Given the description of an element on the screen output the (x, y) to click on. 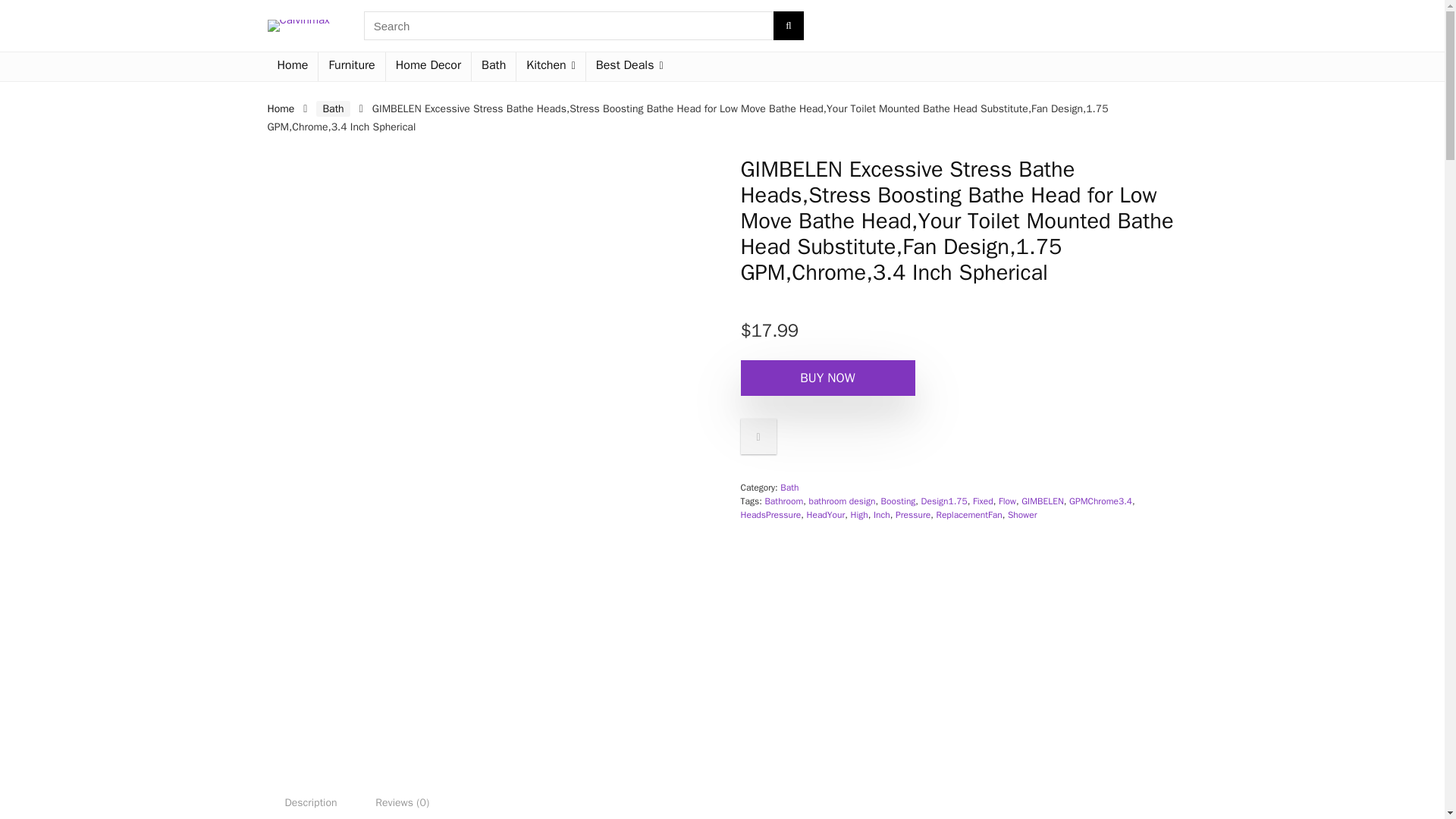
HeadsPressure (769, 514)
HeadYour (825, 514)
Home (280, 108)
Furniture (351, 66)
Bath (493, 66)
Pressure (912, 514)
bathroom design (841, 500)
Flow (1007, 500)
Home Decor (427, 66)
Inch (881, 514)
